Given the description of an element on the screen output the (x, y) to click on. 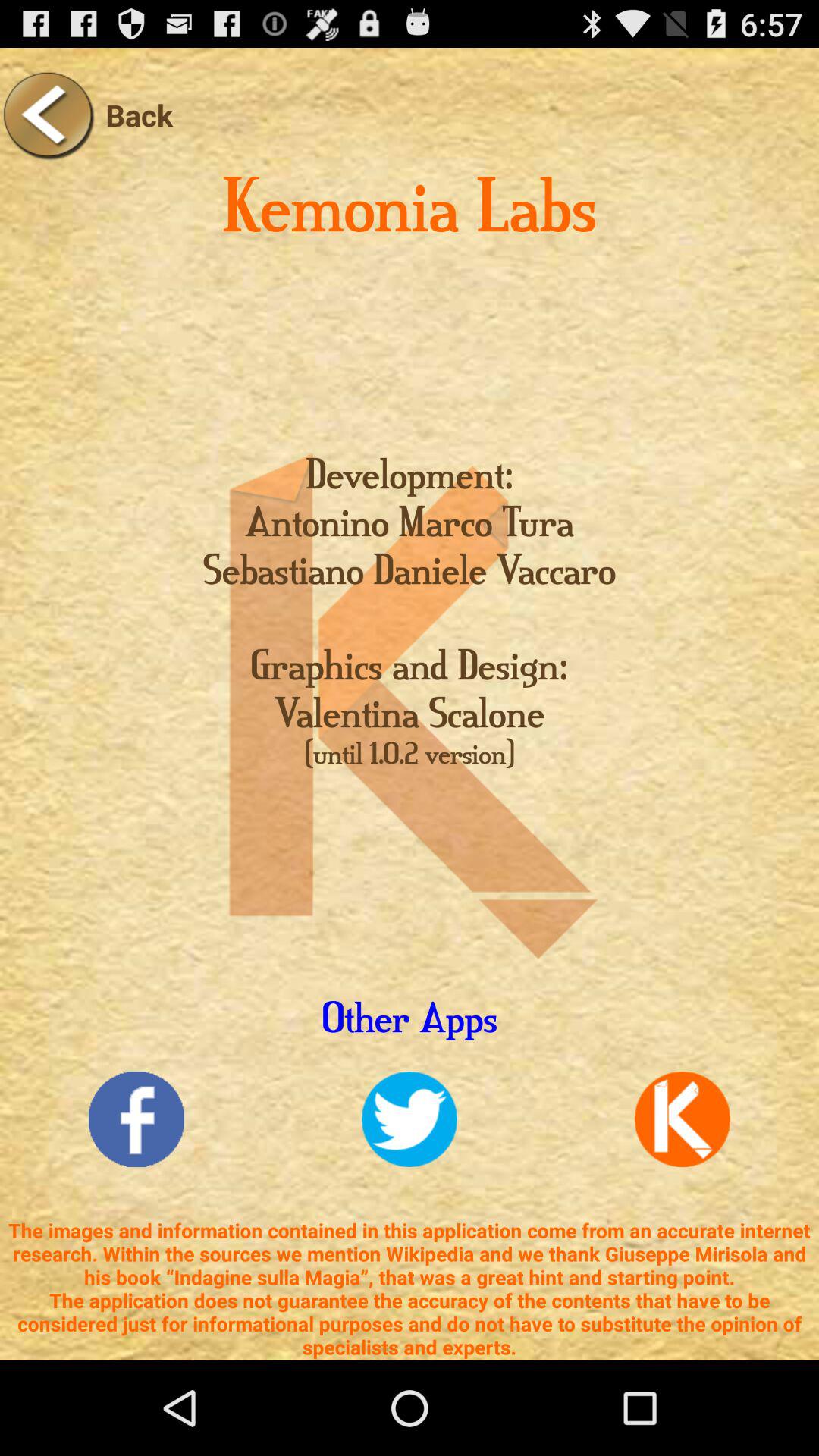
open kemonia app (682, 1119)
